Given the description of an element on the screen output the (x, y) to click on. 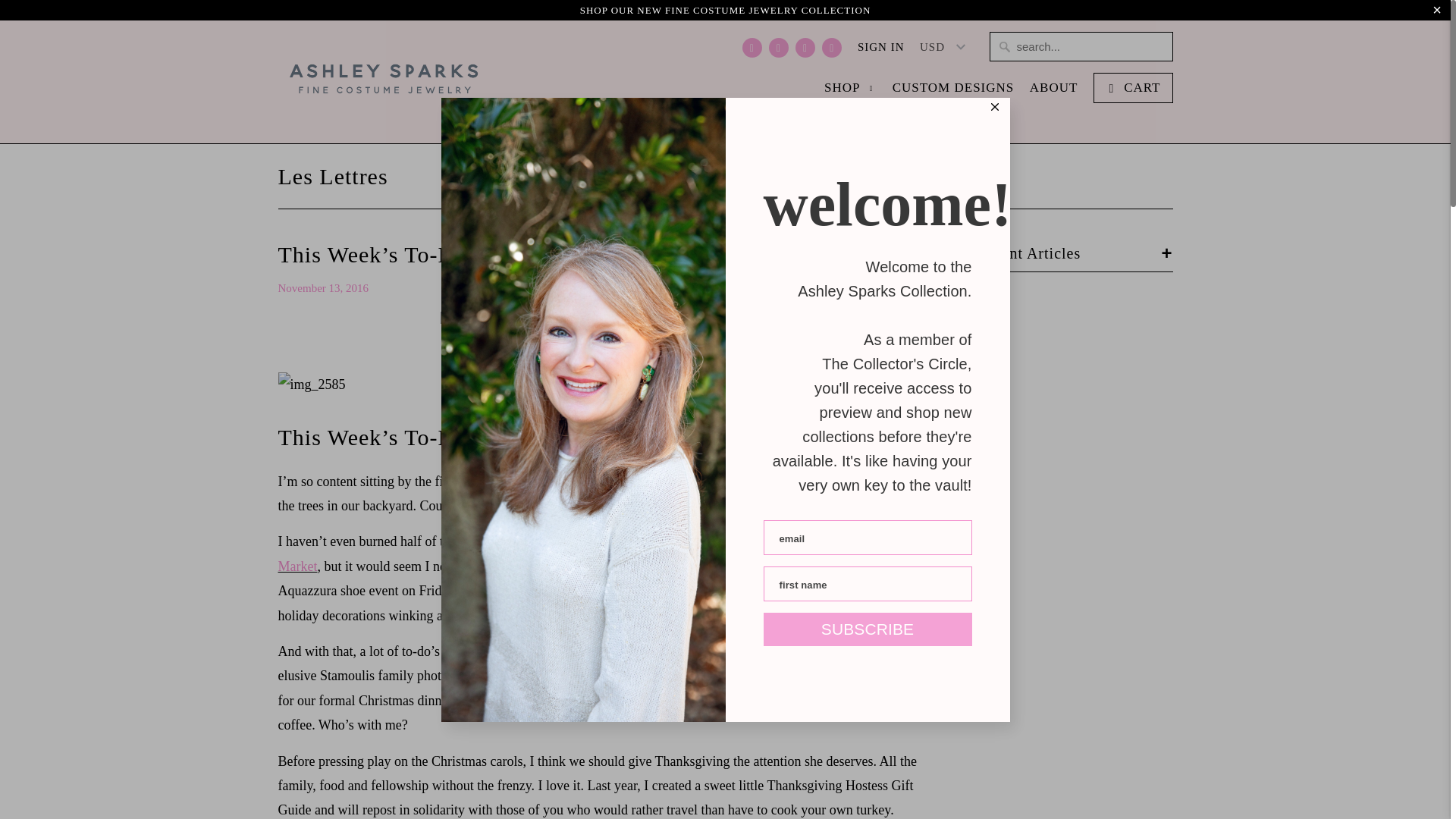
CART (1133, 87)
SHOP (850, 92)
Ashley Sparks Collection on Facebook (751, 47)
cart (1133, 87)
Les Lettres (332, 176)
Email Ashley Sparks Collection (831, 47)
CUSTOM DESIGNS (953, 91)
Park Hill Collection Autumn Gathering (567, 540)
Ashley Sparks Collection (383, 81)
Les Lettres (332, 176)
Ashley Sparks Collection on Pinterest (778, 47)
ABOUT (1053, 91)
SIGN IN (880, 50)
Ashley Sparks Collection on Instagram (804, 47)
